Given the description of an element on the screen output the (x, y) to click on. 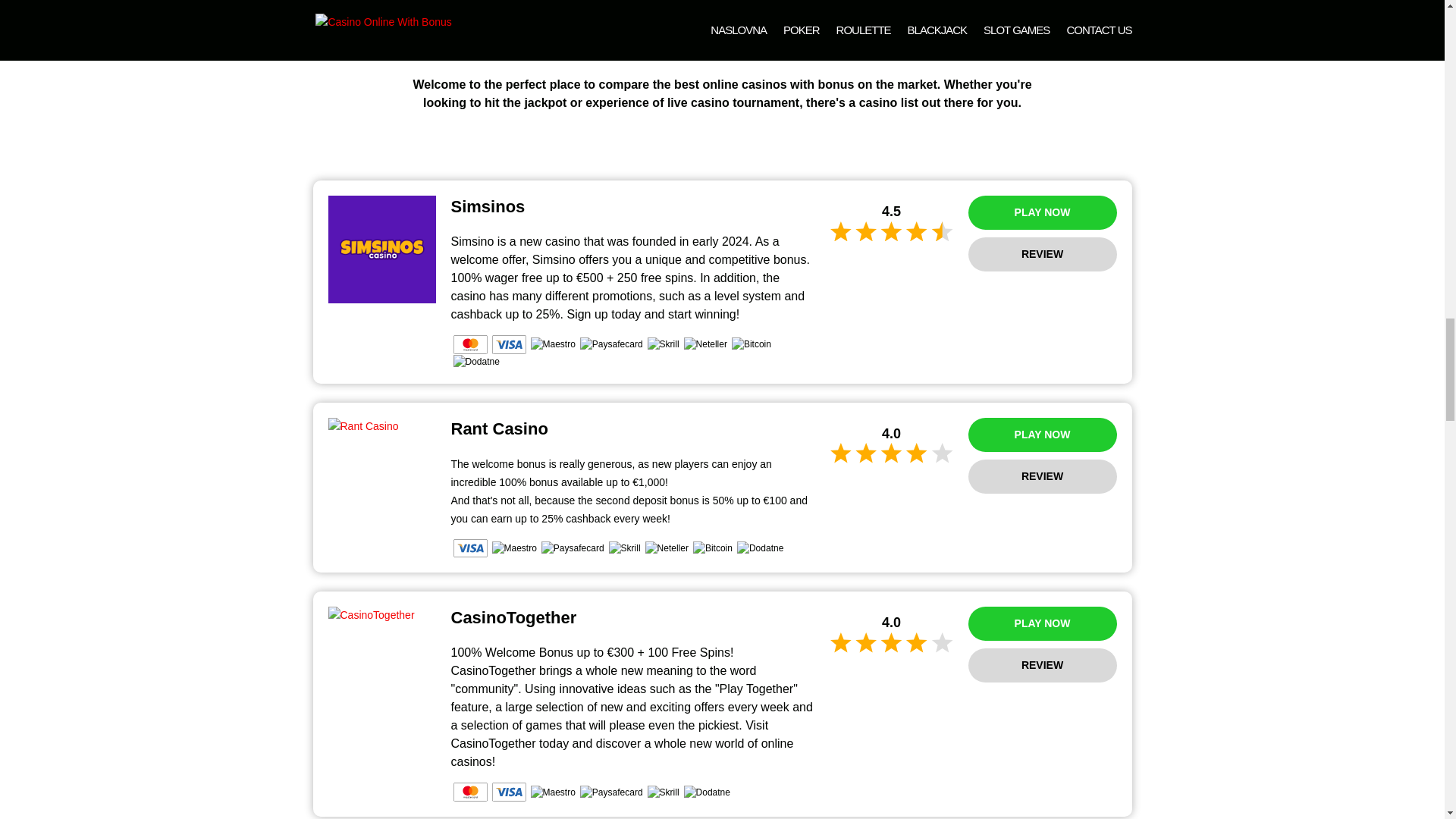
Paysafecard (572, 548)
Simsinos (381, 249)
PLAY NOW (1042, 434)
Rant Casino (381, 426)
REVIEW (1042, 254)
Visa (469, 547)
Visa (508, 343)
Maestro (513, 548)
Skrill (624, 548)
REVIEW (1042, 665)
